Given the description of an element on the screen output the (x, y) to click on. 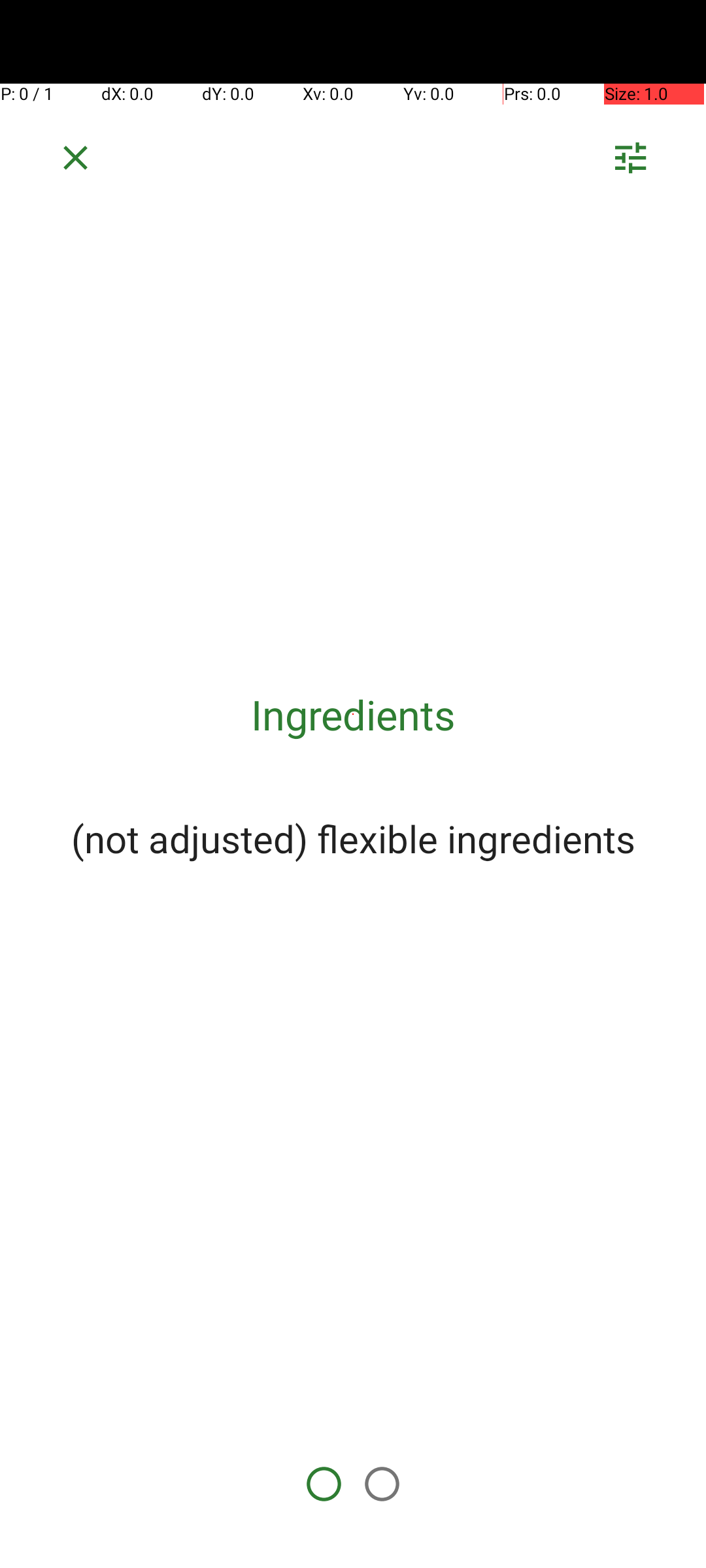
Adjust ingredients Element type: android.widget.Button (630, 161)
Ingredients Element type: android.widget.TextView (352, 714)
(not adjusted) flexible ingredients Element type: android.widget.TextView (352, 838)
